Given the description of an element on the screen output the (x, y) to click on. 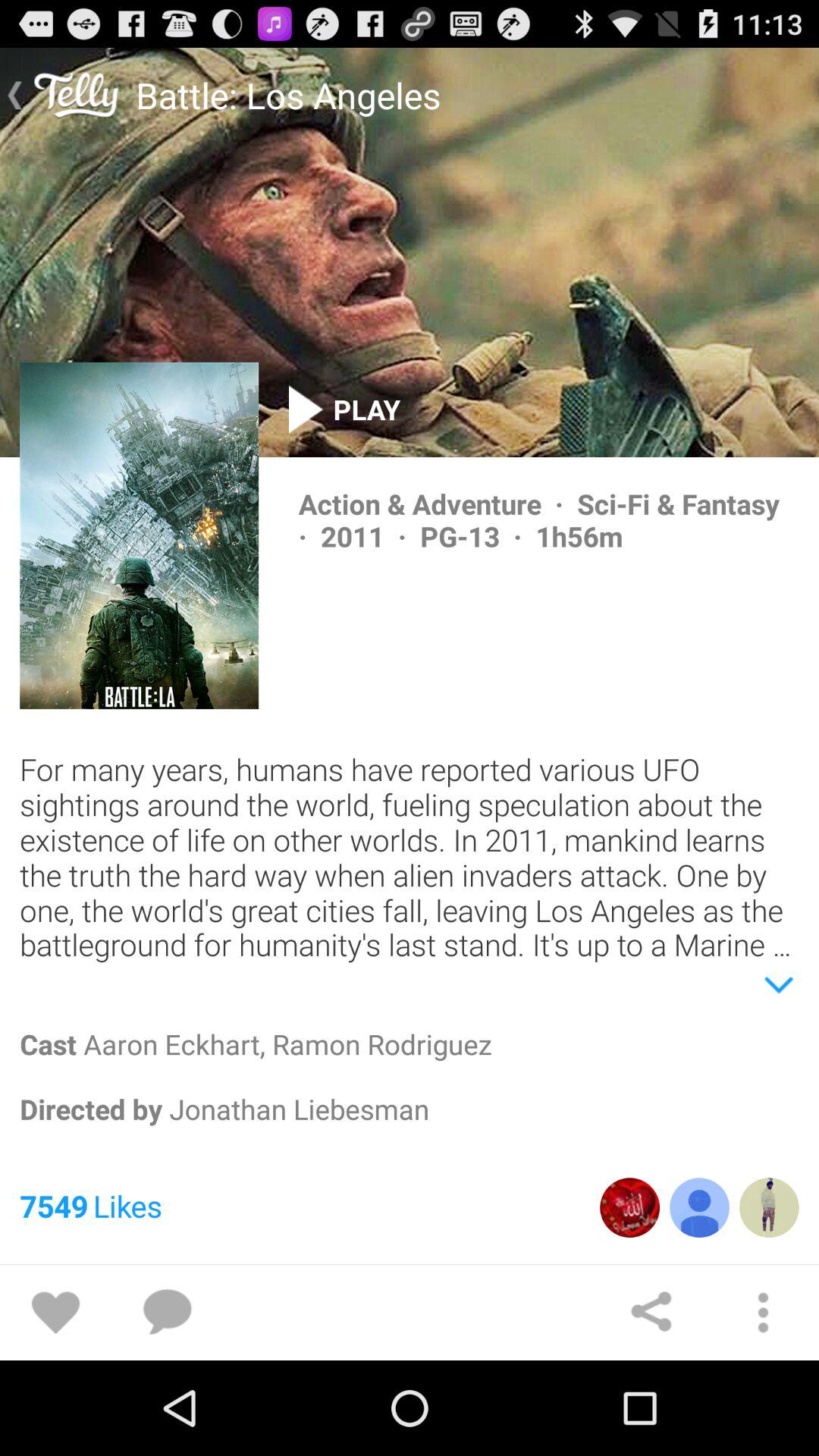
go to meesage (166, 1312)
